Given the description of an element on the screen output the (x, y) to click on. 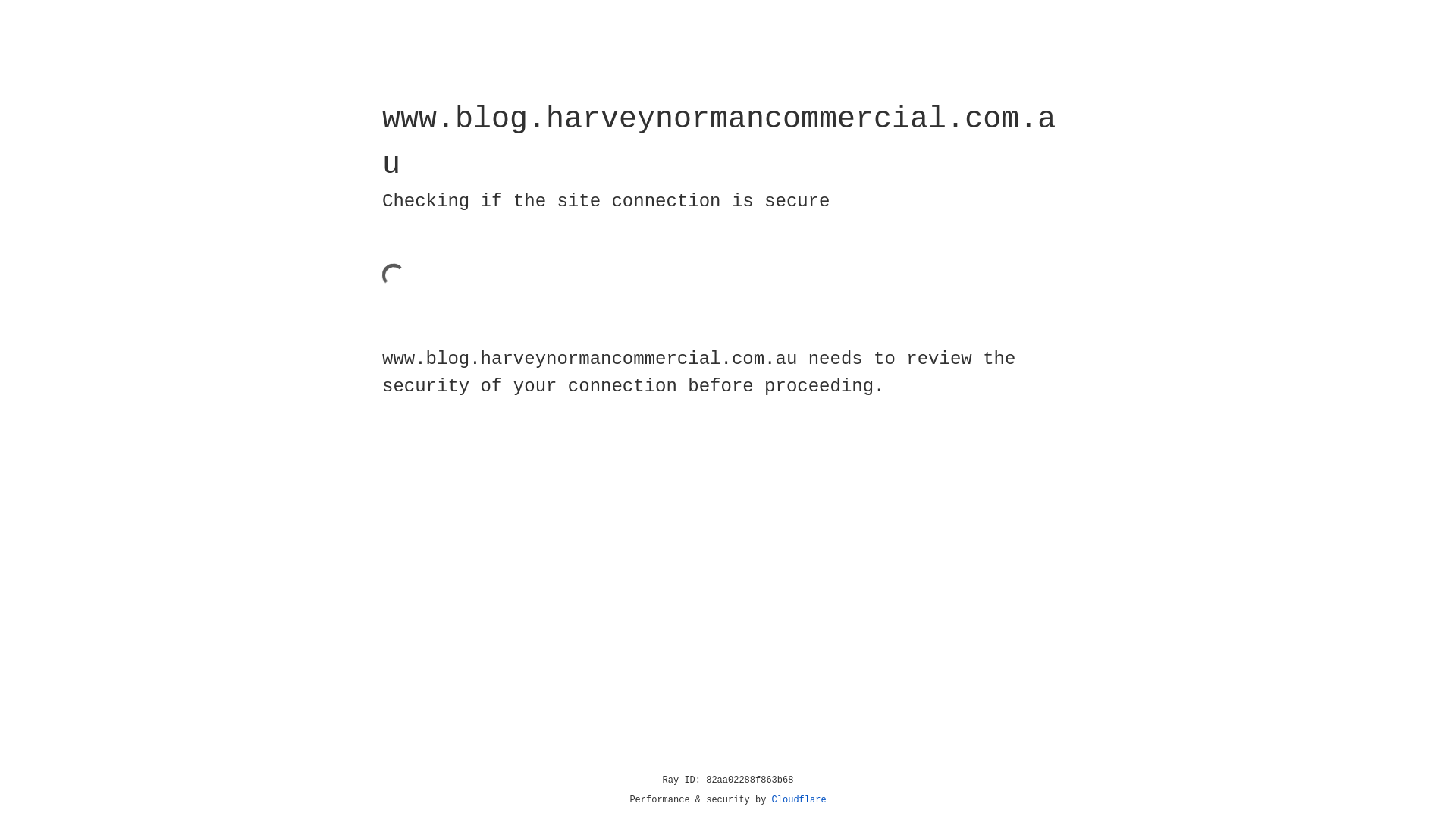
Cloudflare Element type: text (798, 799)
